Given the description of an element on the screen output the (x, y) to click on. 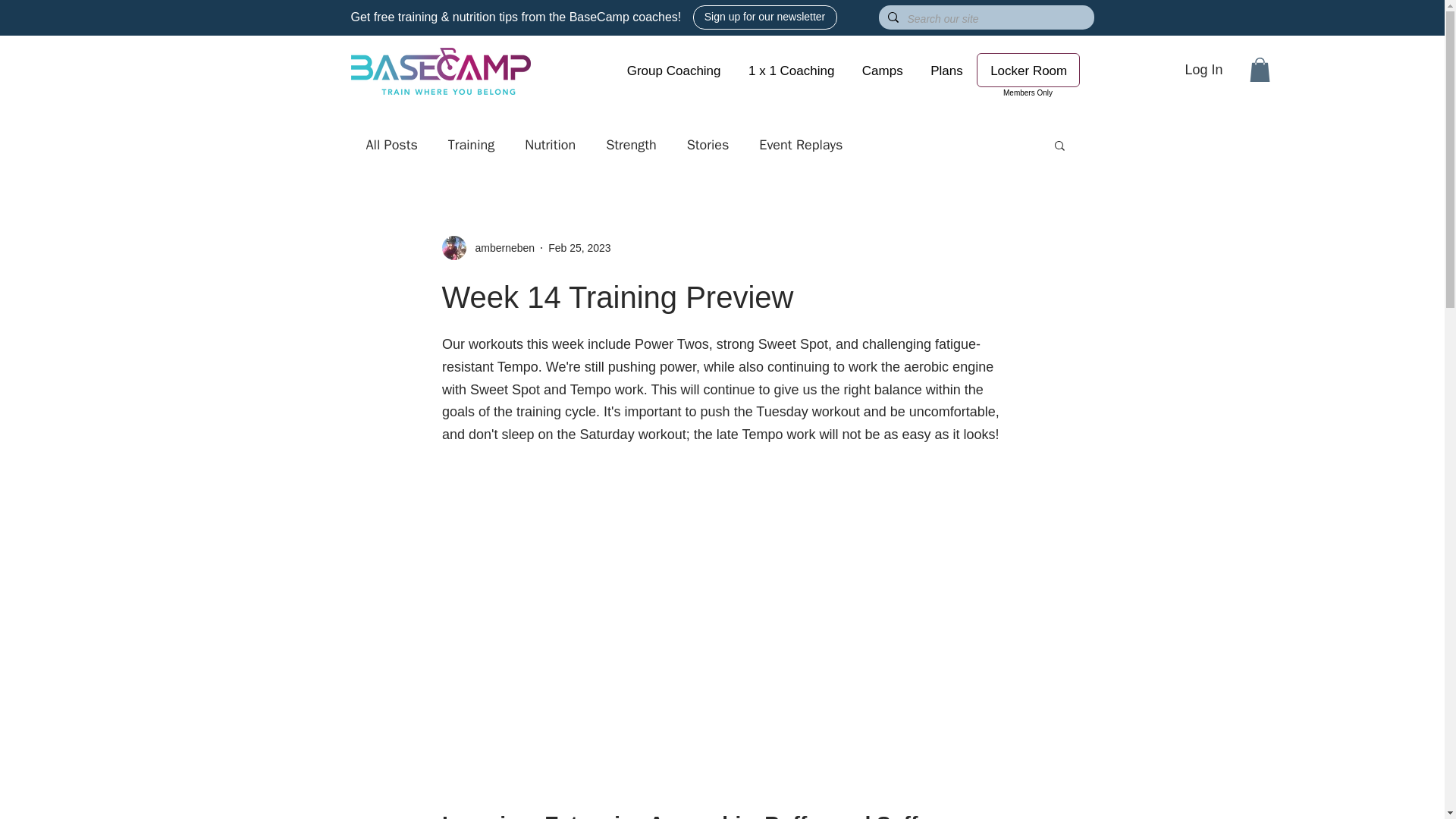
Group Coaching (672, 71)
Strength (630, 144)
Log In (1203, 69)
Nutrition (549, 144)
Training (471, 144)
Plans (947, 71)
Sign up for our newsletter (765, 16)
Stories (708, 144)
amberneben (499, 248)
All Posts (390, 144)
Feb 25, 2023 (579, 247)
1 x 1 Coaching (791, 71)
Event Replays (800, 144)
